Given the description of an element on the screen output the (x, y) to click on. 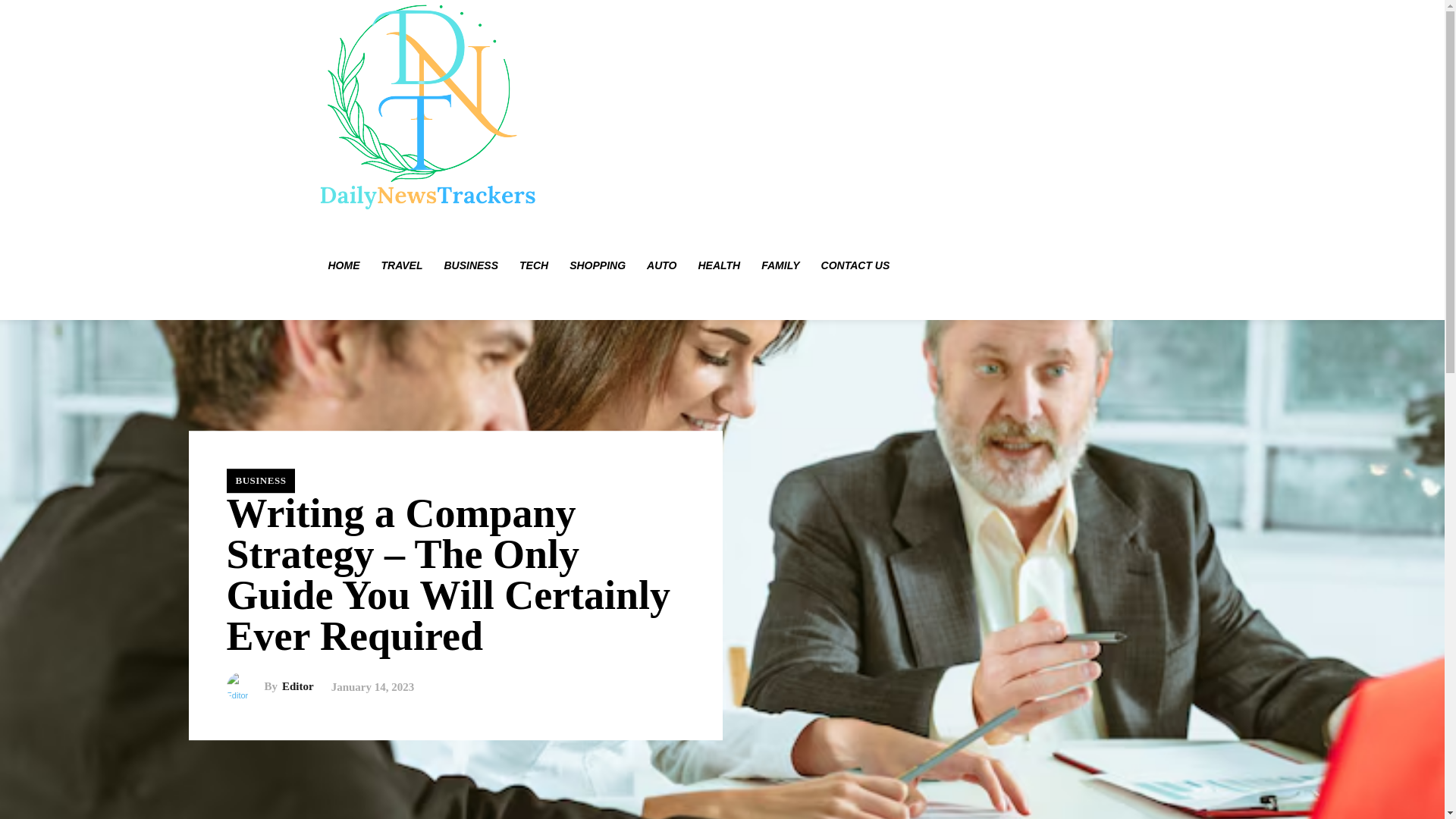
FAMILY (780, 265)
AUTO (661, 265)
TECH (533, 265)
BUSINESS (470, 265)
TRAVEL (400, 265)
CONTACT US (855, 265)
Editor (244, 686)
SHOPPING (597, 265)
Editor (298, 686)
HOME (343, 265)
BUSINESS (260, 480)
HEALTH (719, 265)
